Given the description of an element on the screen output the (x, y) to click on. 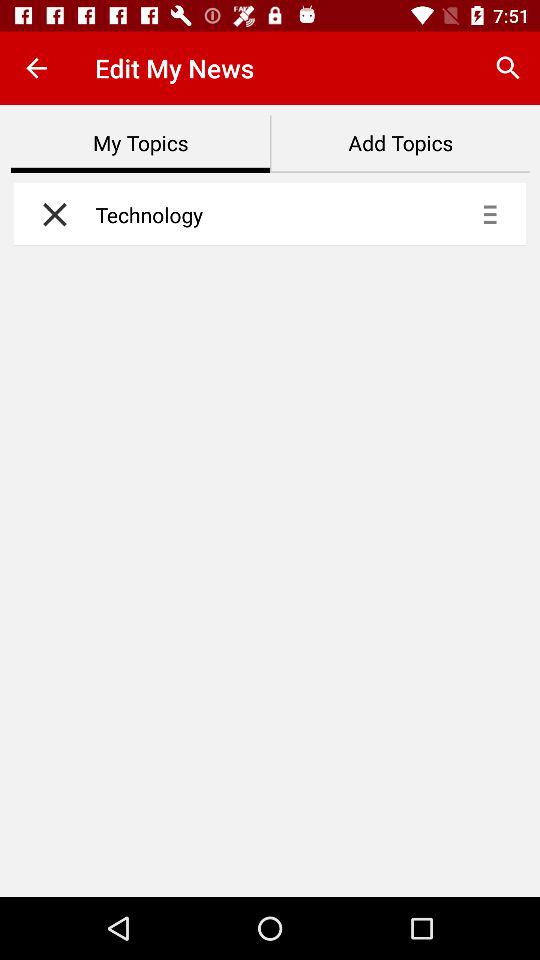
open icon next to my topics icon (400, 143)
